Given the description of an element on the screen output the (x, y) to click on. 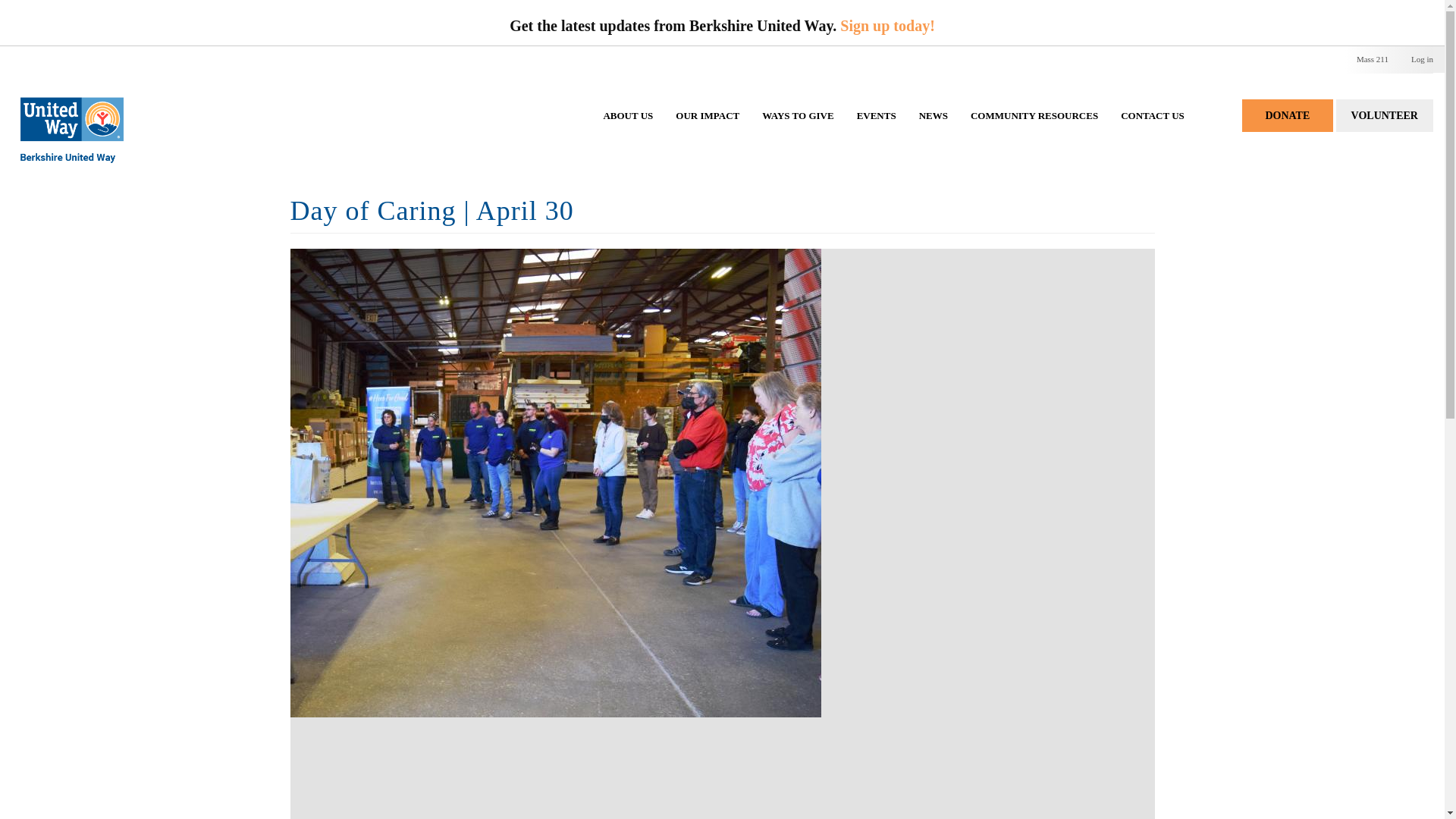
WAYS TO GIVE (797, 130)
Home (71, 114)
VOLUNTEER (1384, 115)
Mass 211 (1372, 59)
EVENTS (876, 130)
DONATE (1287, 115)
OUR IMPACT (707, 130)
ABOUT US (627, 130)
Sign up today! (887, 25)
